Given the description of an element on the screen output the (x, y) to click on. 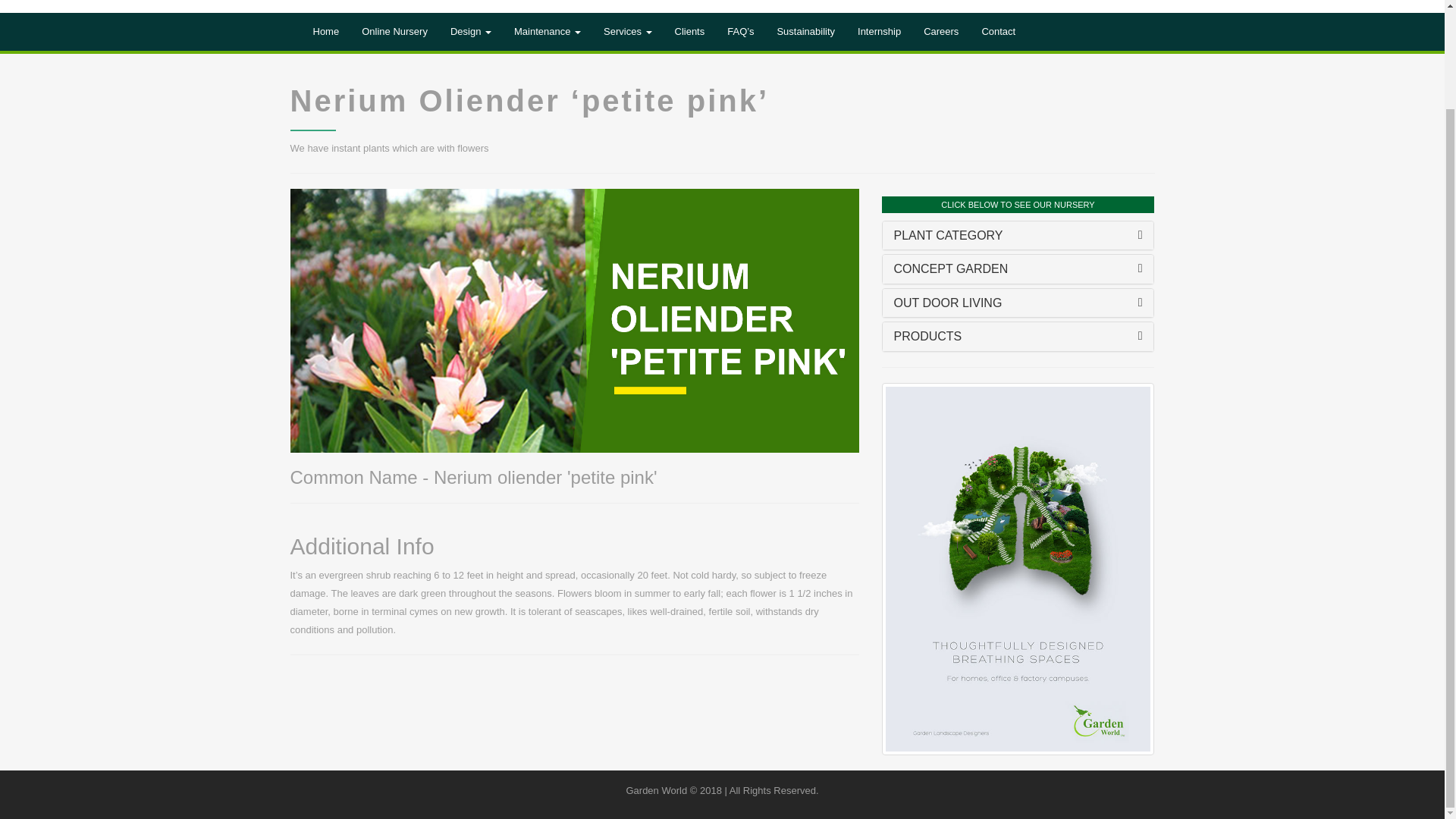
Design (470, 31)
Maintenance (547, 31)
Home (325, 31)
Internship (878, 31)
Services (627, 31)
Contact (997, 31)
Clients (689, 31)
PLANT CATEGORY (948, 235)
Online Nursery (394, 31)
Sustainability (805, 31)
